Given the description of an element on the screen output the (x, y) to click on. 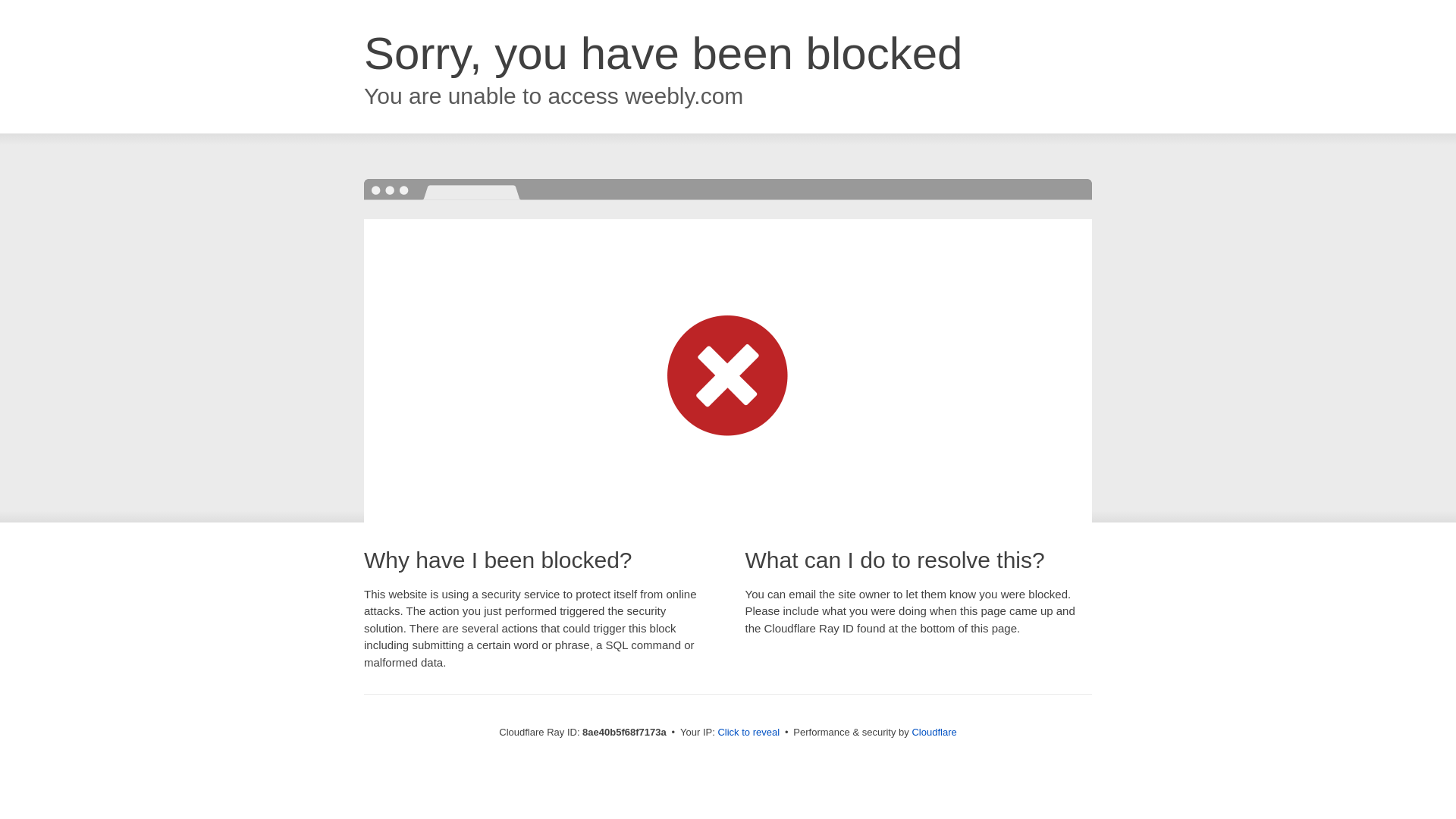
Cloudflare (933, 731)
Click to reveal (747, 732)
